Given the description of an element on the screen output the (x, y) to click on. 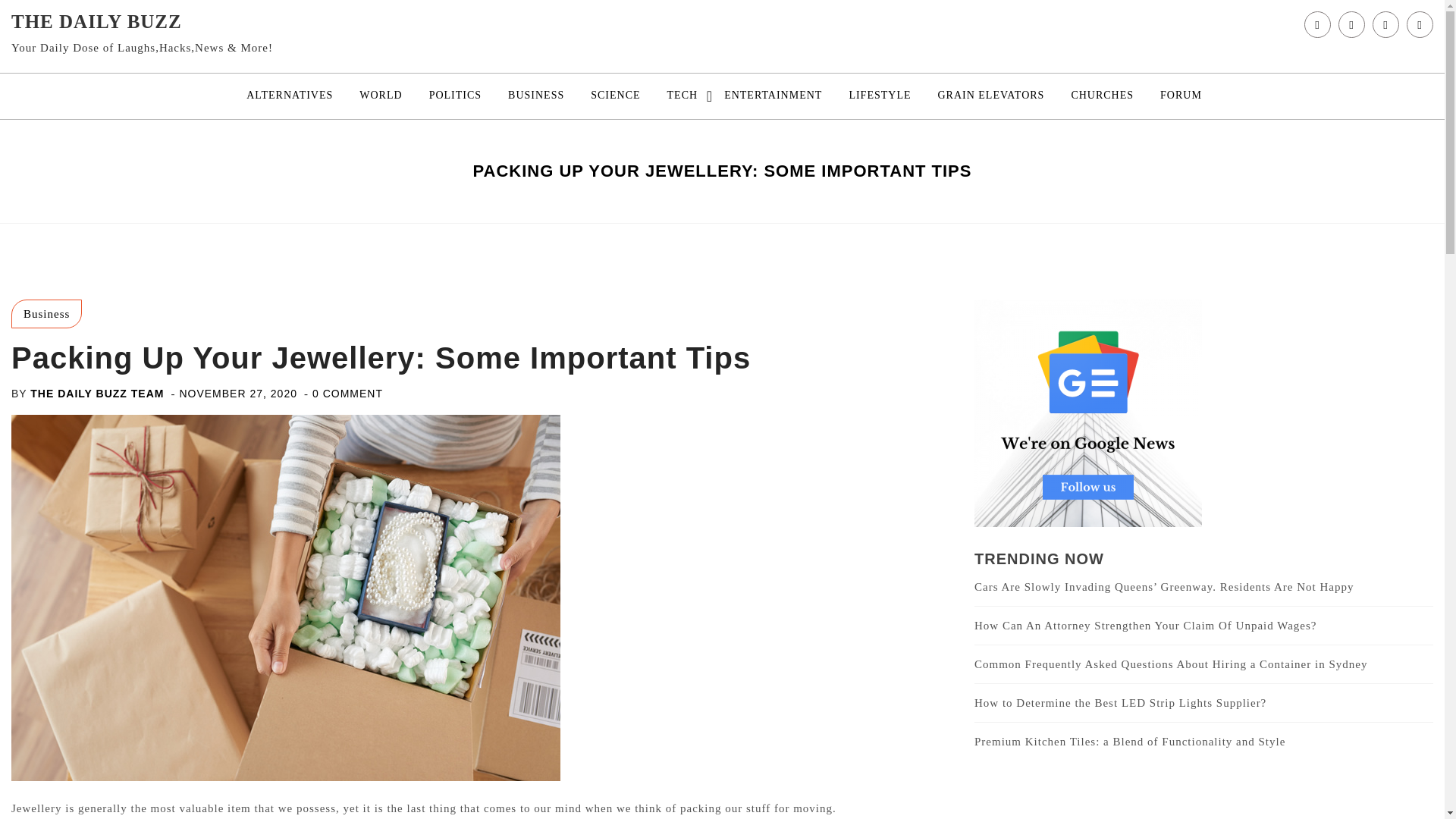
NOVEMBER 27, 2020 (238, 393)
BUSINESS (535, 95)
THE DAILY BUZZ (96, 21)
TECH (683, 95)
GRAIN ELEVATORS (990, 95)
CHURCHES (1101, 95)
LIFESTYLE (879, 95)
POLITICS (455, 95)
WORLD (380, 95)
FORUM (1180, 95)
